Given the description of an element on the screen output the (x, y) to click on. 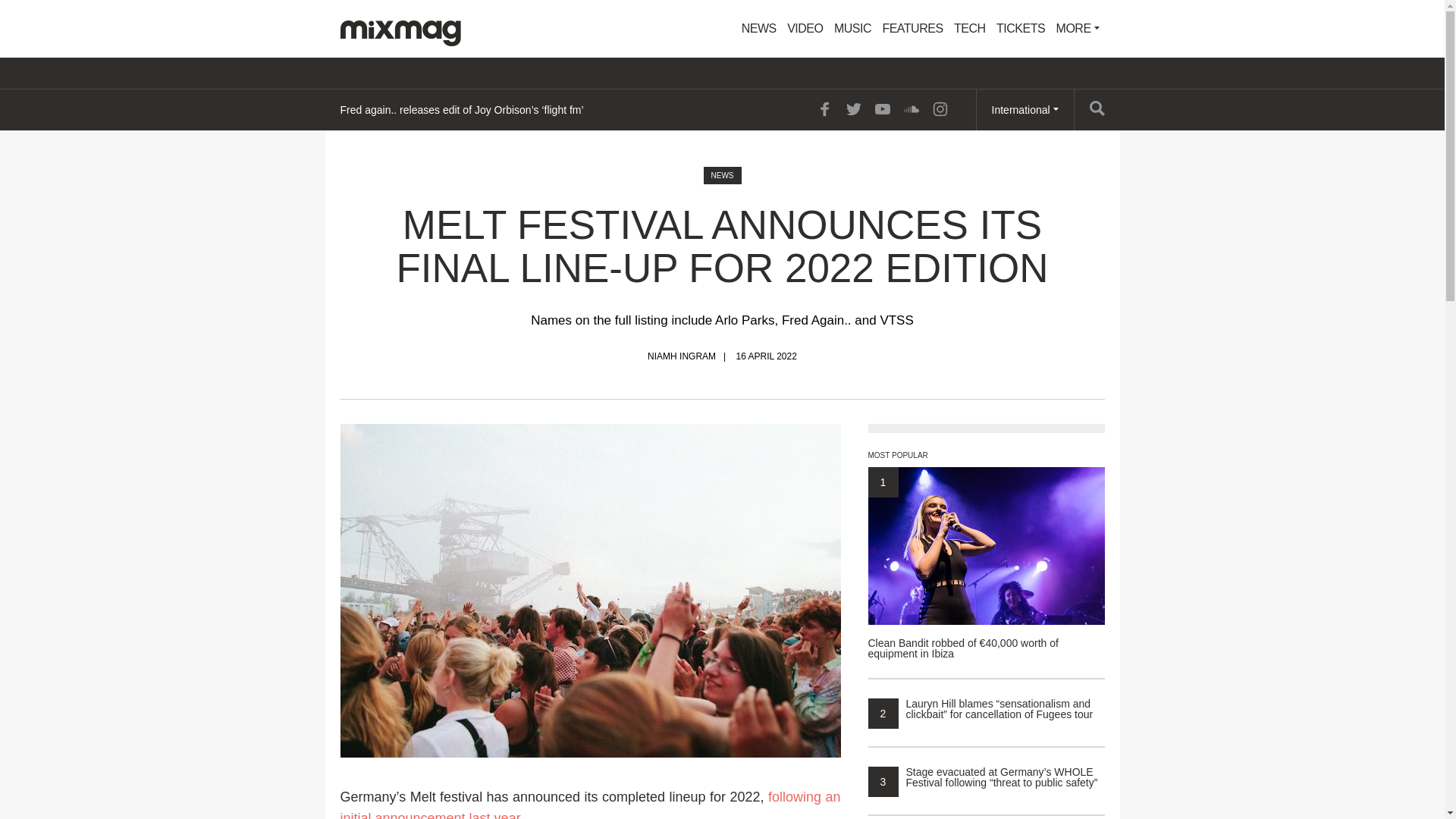
FEATURES (911, 28)
TICKETS (1020, 28)
MORE (1078, 28)
